Given the description of an element on the screen output the (x, y) to click on. 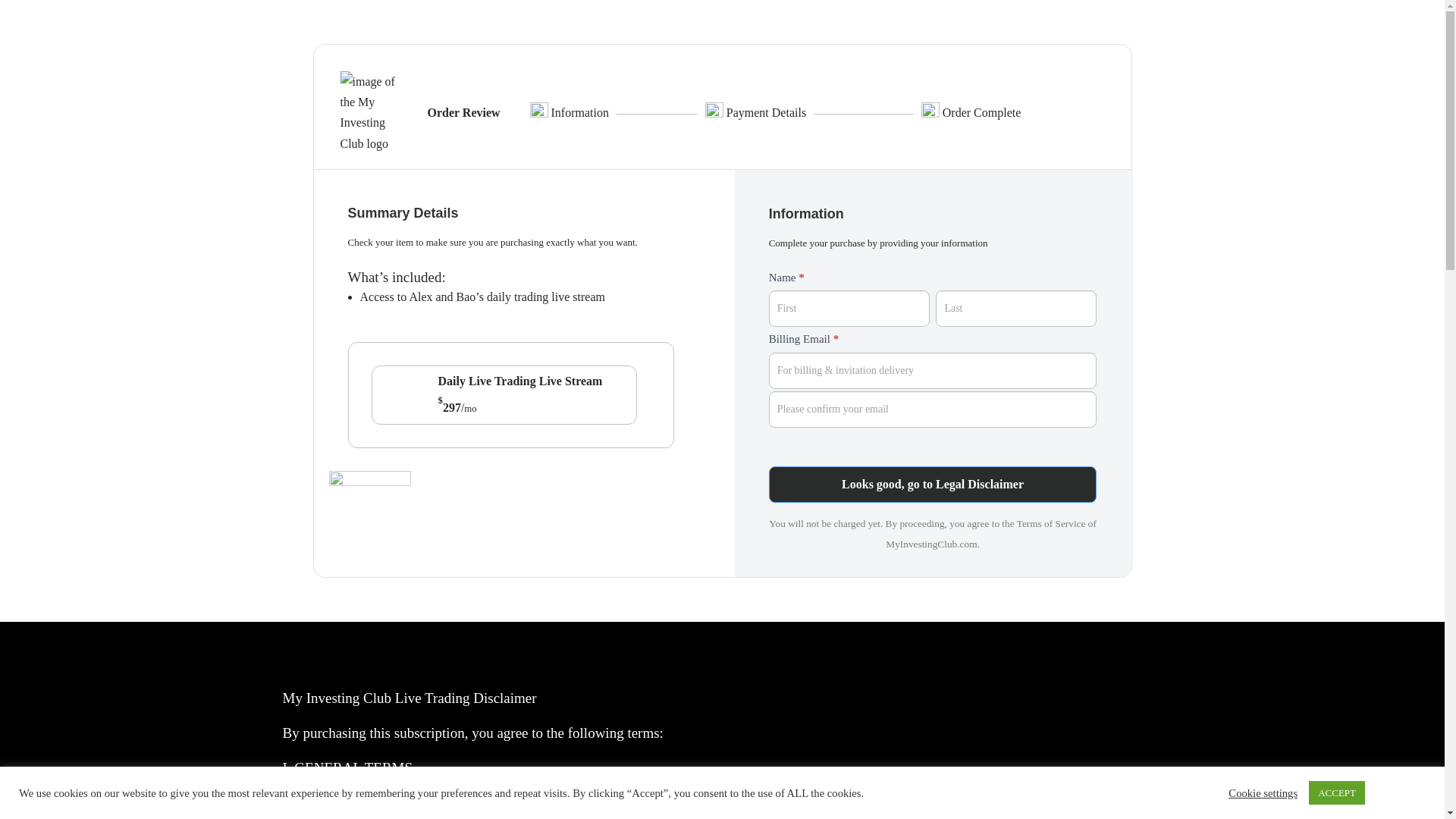
stripe (369, 479)
Looks good, go to Legal Disclaimer (932, 484)
